Given the description of an element on the screen output the (x, y) to click on. 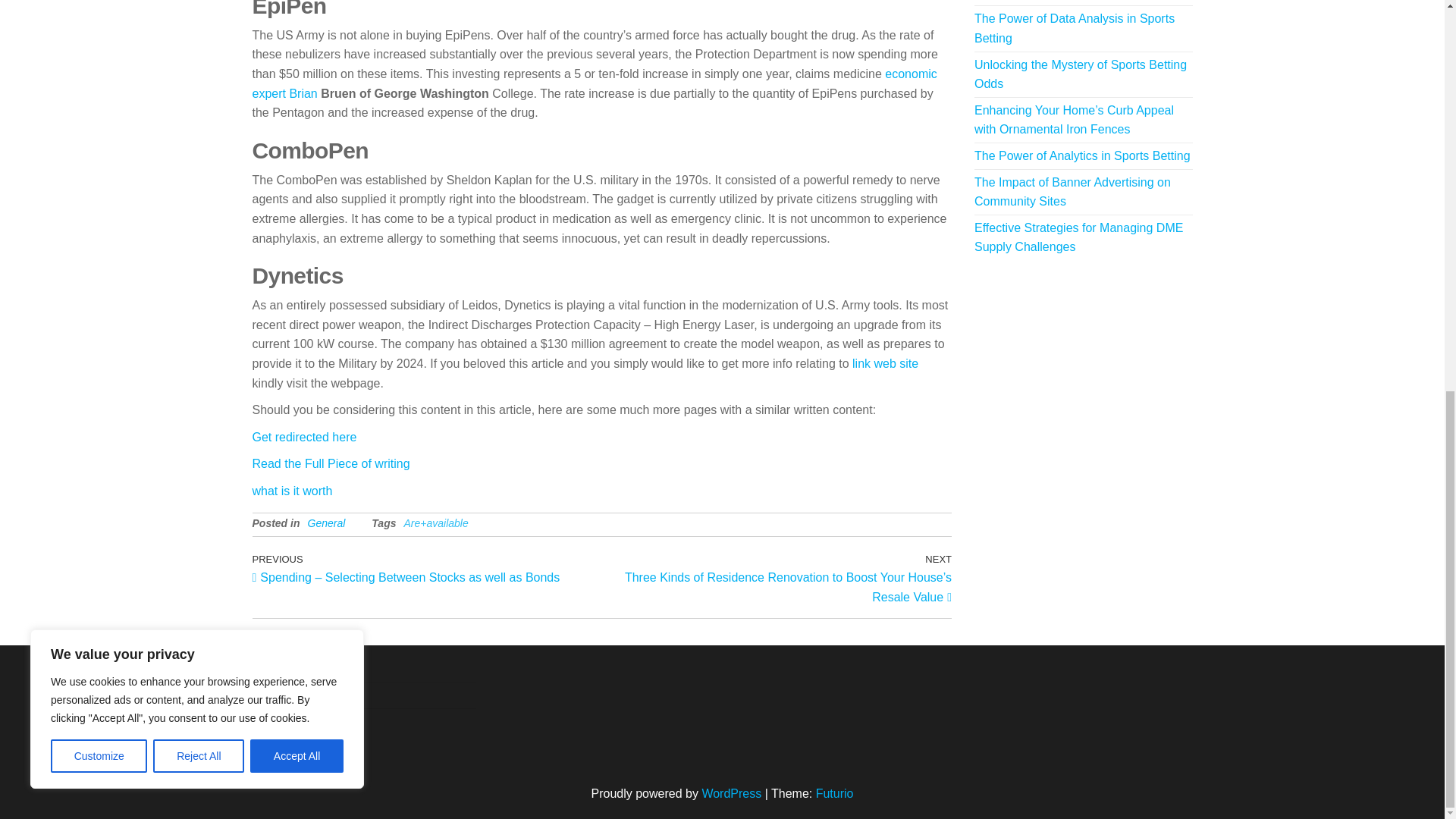
economic (910, 73)
Read the Full Piece of writing (330, 463)
what is it worth (291, 490)
Reject All (198, 12)
Get redirected here (303, 436)
General (326, 522)
Accept All (296, 12)
Customize (98, 12)
expert Brian (284, 92)
link web site (884, 363)
